Given the description of an element on the screen output the (x, y) to click on. 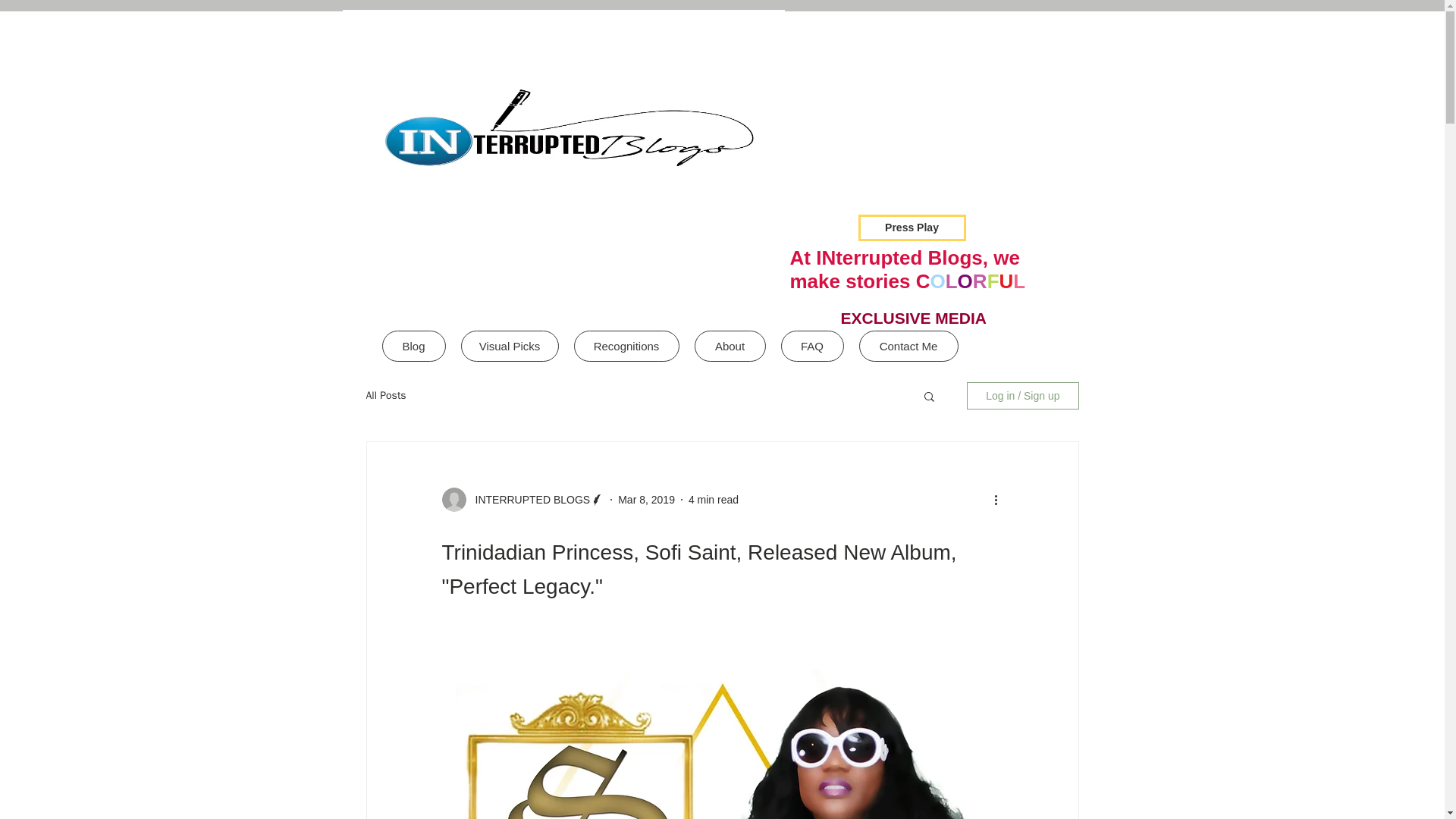
Press Play (912, 227)
Blog (413, 345)
INTERRUPTED BLOGS (527, 498)
All Posts (385, 395)
Mar 8, 2019 (646, 499)
4 min read (713, 499)
About (729, 345)
FAQ (812, 345)
Recognitions (625, 345)
Visual Picks (510, 345)
